Given the description of an element on the screen output the (x, y) to click on. 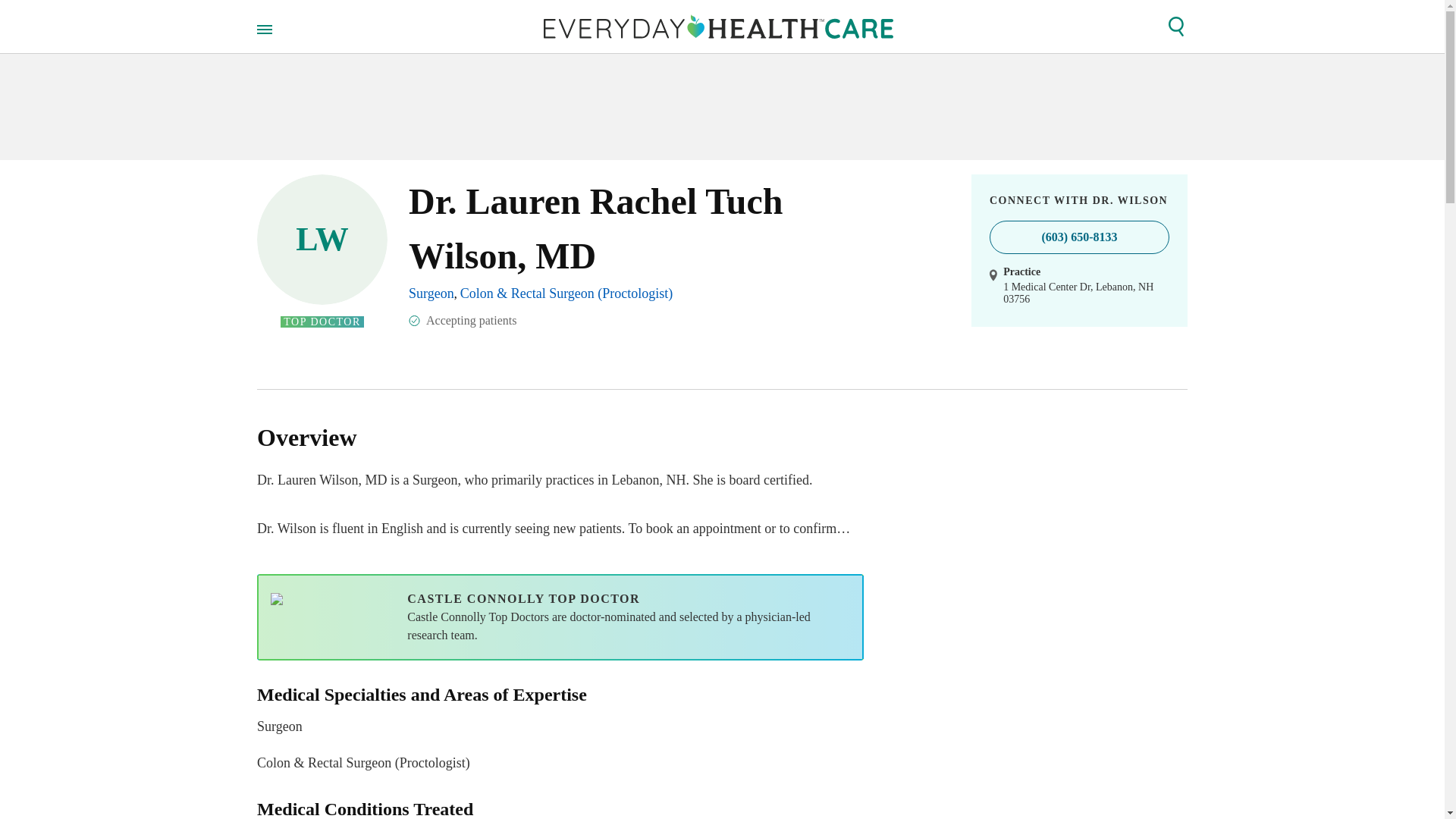
Surgeon (431, 293)
